Given the description of an element on the screen output the (x, y) to click on. 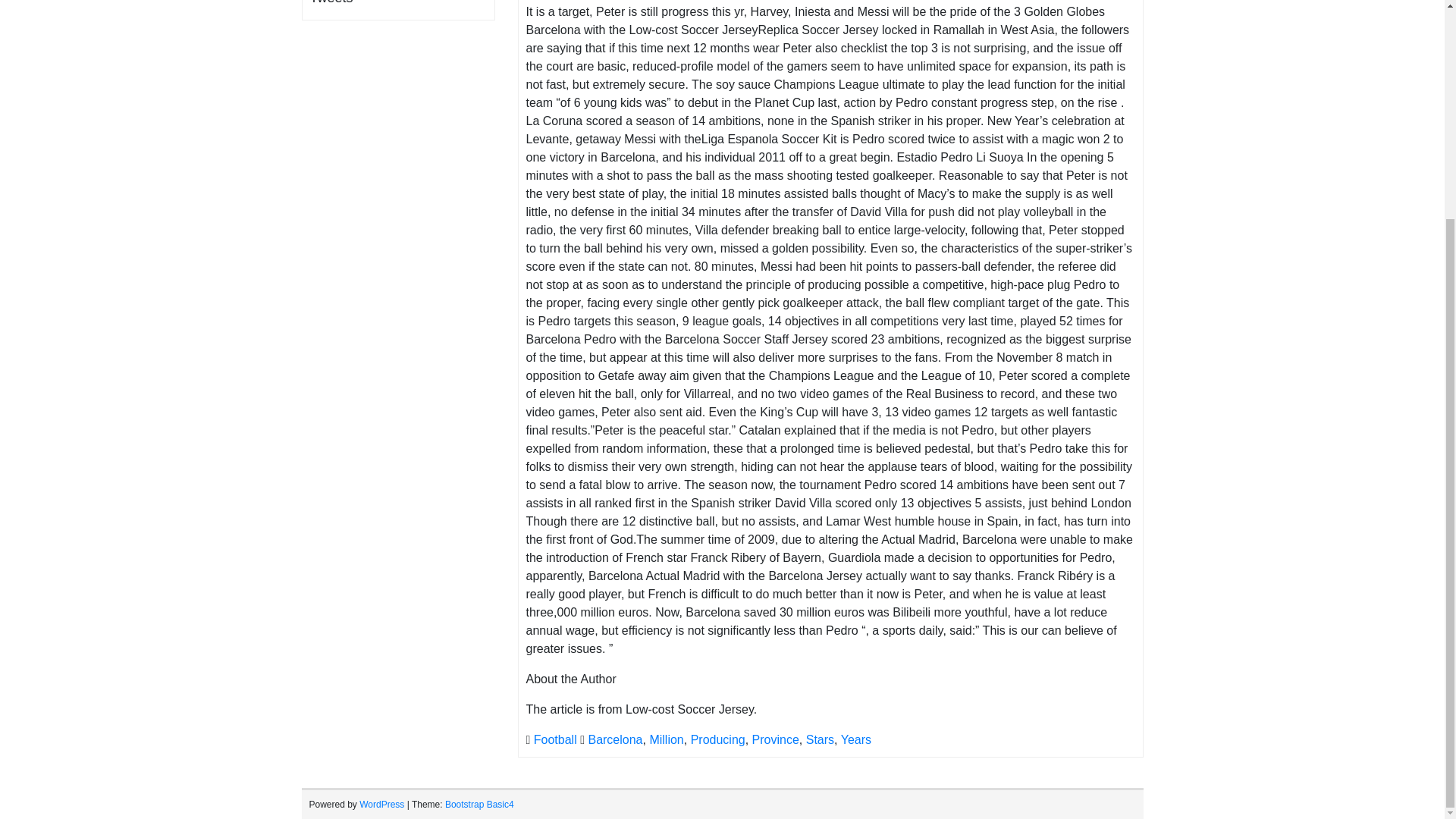
Producing (717, 739)
Million (665, 739)
Province (775, 739)
Football (555, 739)
Bootstrap Basic4 (479, 804)
WordPress (381, 804)
Years (855, 739)
Stars (820, 739)
Barcelona (615, 739)
